Given the description of an element on the screen output the (x, y) to click on. 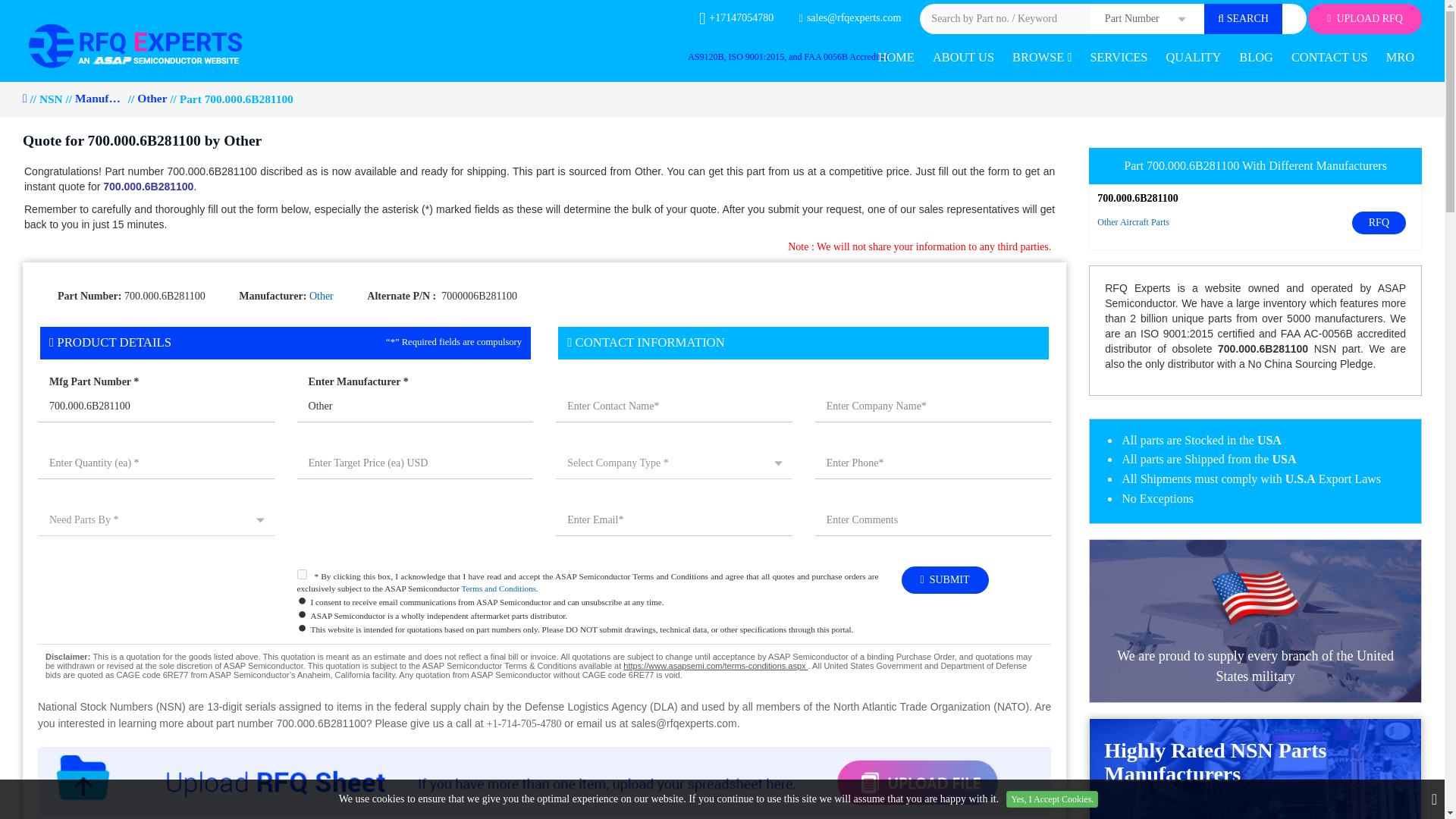
HOME (895, 56)
700.000.6B281100 (156, 407)
Other (415, 407)
disclaimer (544, 664)
ABOUT US (962, 56)
BROWSE (1041, 56)
  UPLOAD RFQ (1364, 19)
on (302, 574)
